Given the description of an element on the screen output the (x, y) to click on. 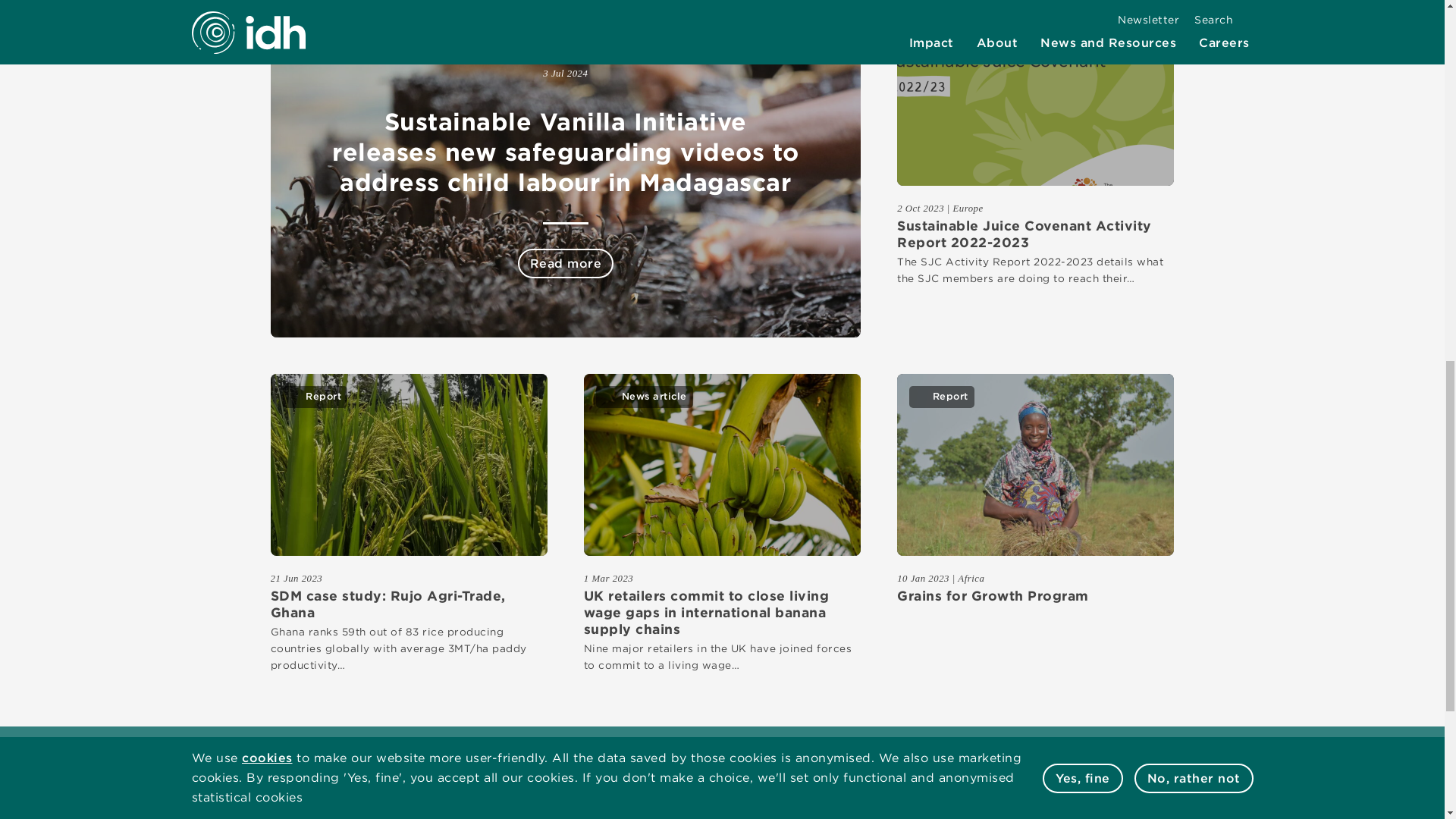
Teaser link (408, 464)
Teaser link (1034, 464)
Sign up (885, 757)
Teaser link (721, 464)
SJC Activity Report Cover (1034, 94)
ahnaf-piash-liUvurgYGyw-unsplash (721, 464)
Sustainable Juice Covenant Activity Report 2022-2023 (1034, 233)
IDH Logo (247, 814)
Read more (566, 263)
SDM case study: Rujo Agri-Trade, Ghana (408, 604)
Teaser link (1034, 94)
